Given the description of an element on the screen output the (x, y) to click on. 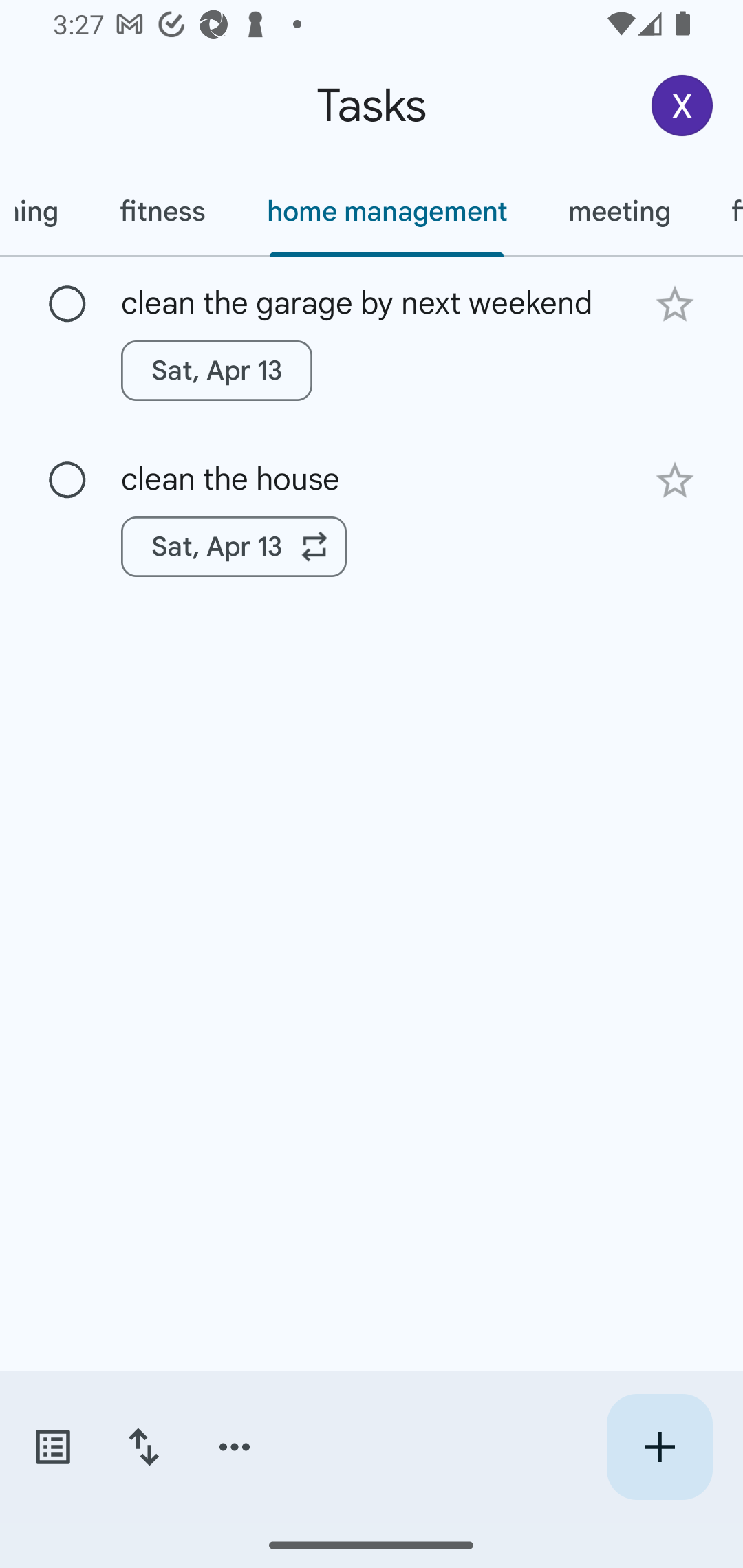
fitness (162, 211)
meeting (618, 211)
Add star (674, 303)
Mark as complete (67, 304)
Sat, Apr 13 (216, 369)
Add star (674, 480)
Mark as complete (67, 480)
Sat, Apr 13 (233, 546)
Switch task lists (52, 1447)
Create new task (659, 1446)
Change sort order (143, 1446)
More options (234, 1446)
